Given the description of an element on the screen output the (x, y) to click on. 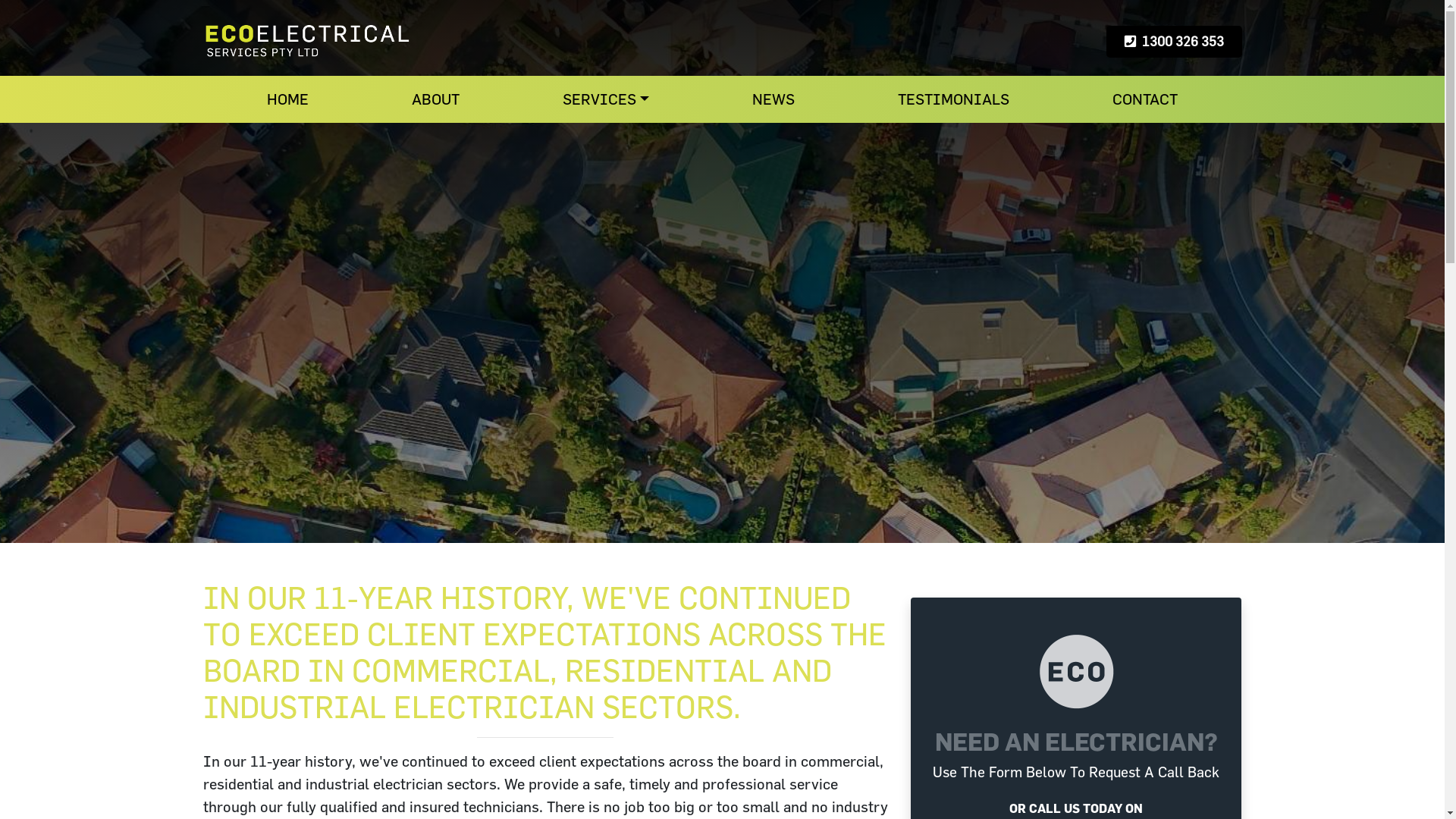
ABOUT Element type: text (435, 98)
NEWS Element type: text (773, 98)
HOME
(CURRENT) Element type: text (287, 98)
SERVICES Element type: text (605, 98)
CONTACT Element type: text (1144, 98)
1300 326 353 Element type: text (1173, 41)
TESTIMONIALS Element type: text (953, 98)
